Given the description of an element on the screen output the (x, y) to click on. 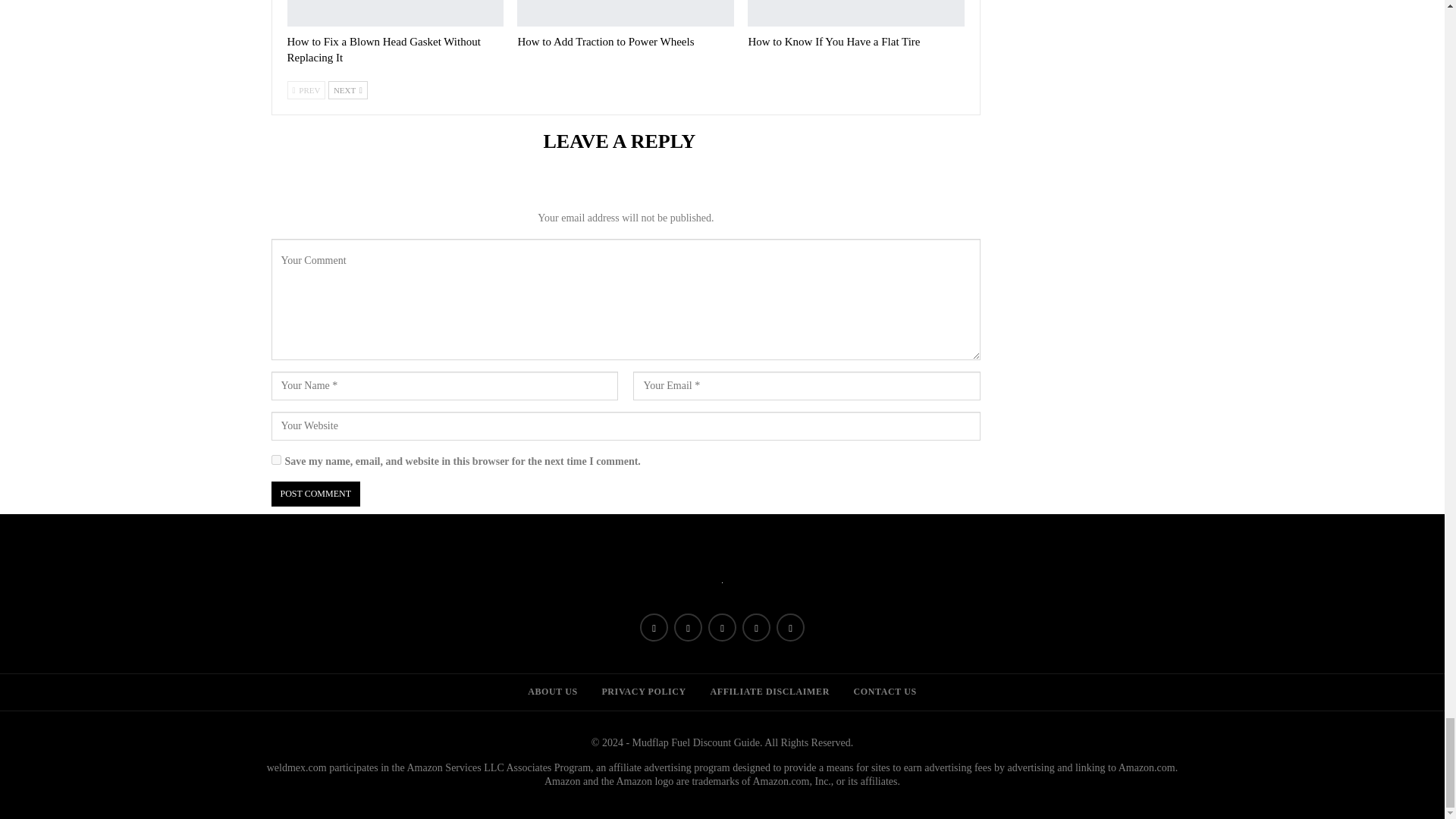
How to Fix a Blown Head Gasket Without Replacing It (383, 49)
How to Fix a Blown Head Gasket Without Replacing It (383, 49)
How to Know If You Have a Flat Tire (855, 13)
yes (275, 460)
How to Add Traction to Power Wheels (605, 41)
Post Comment (314, 493)
How to Add Traction to Power Wheels (624, 13)
How to Fix a Blown Head Gasket Without Replacing It (394, 13)
How to Know If You Have a Flat Tire (834, 41)
